Given the description of an element on the screen output the (x, y) to click on. 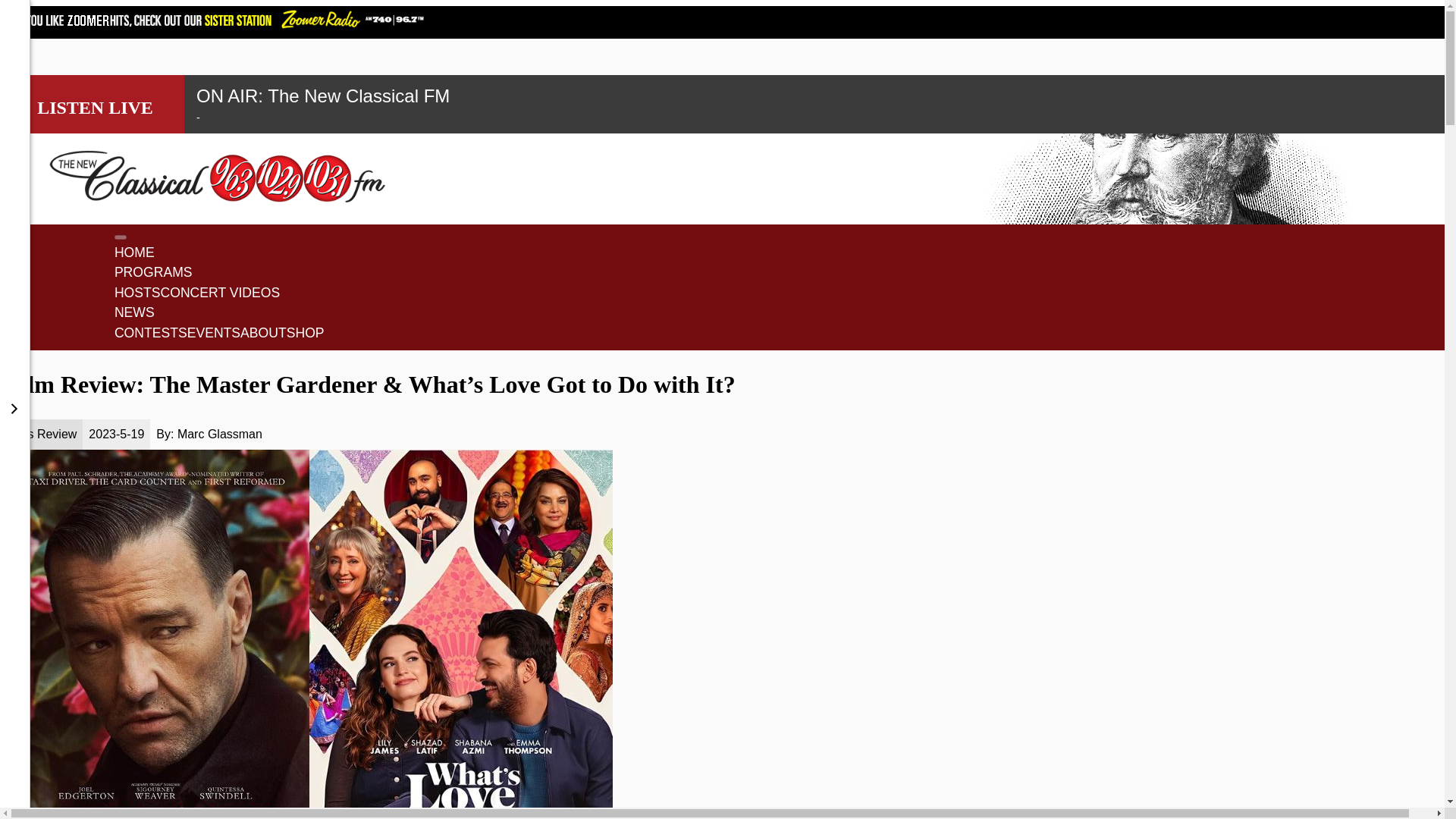
NEWS (134, 313)
ABOUT (263, 334)
HOME (134, 253)
SHOP (305, 334)
CONCERT VIDEOS (219, 294)
EVENTS (213, 334)
CONTESTS (151, 334)
HOSTS (137, 294)
LISTEN LIVE (94, 104)
PROGRAMS (153, 273)
